Given the description of an element on the screen output the (x, y) to click on. 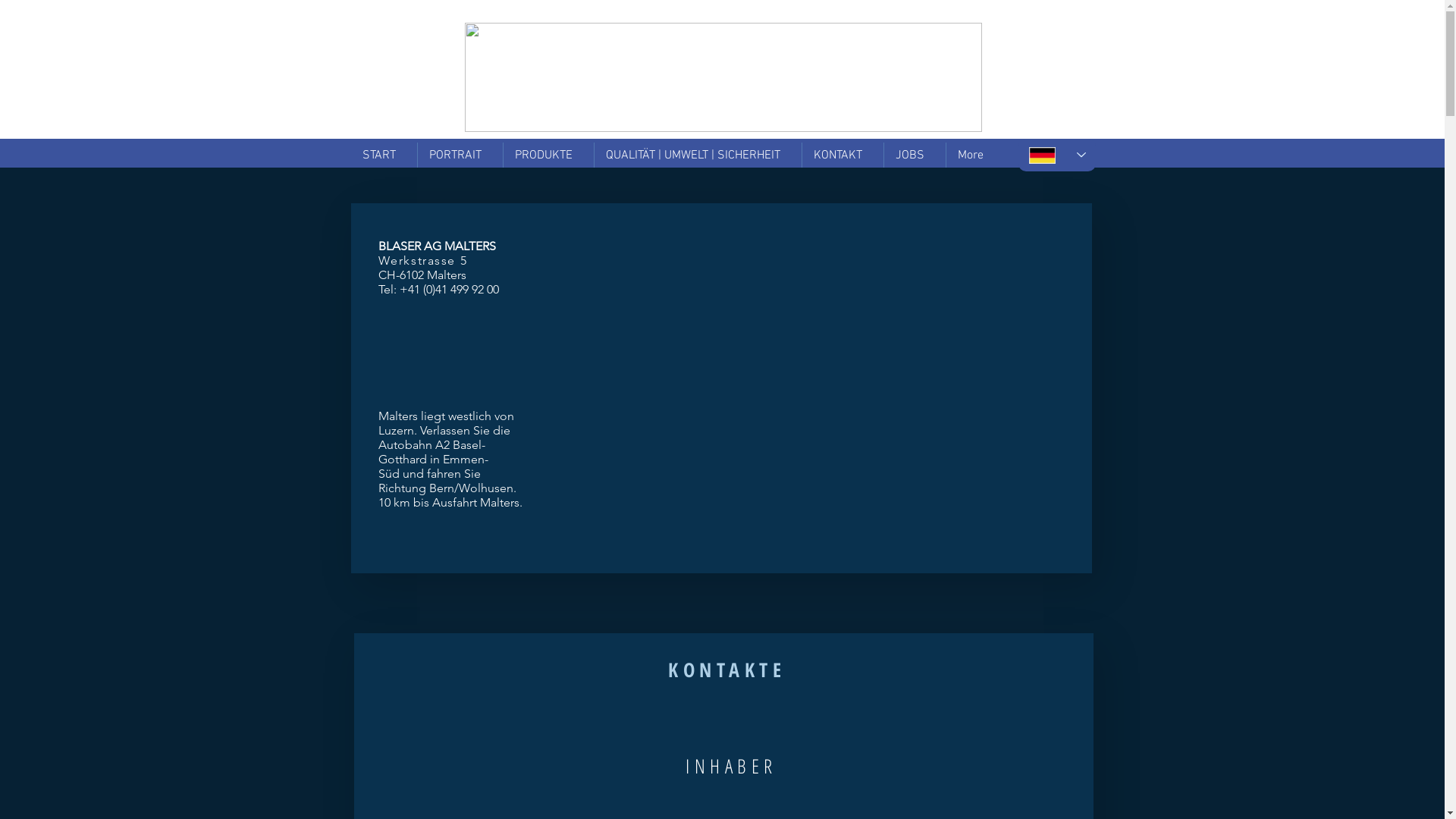
logo-blaser-ag.jpg Element type: hover (722, 76)
Google Maps Element type: hover (798, 379)
PORTRAIT Element type: text (459, 155)
KONTAKT Element type: text (842, 155)
PRODUKTE Element type: text (548, 155)
START Element type: text (383, 155)
JOBS Element type: text (914, 155)
